Given the description of an element on the screen output the (x, y) to click on. 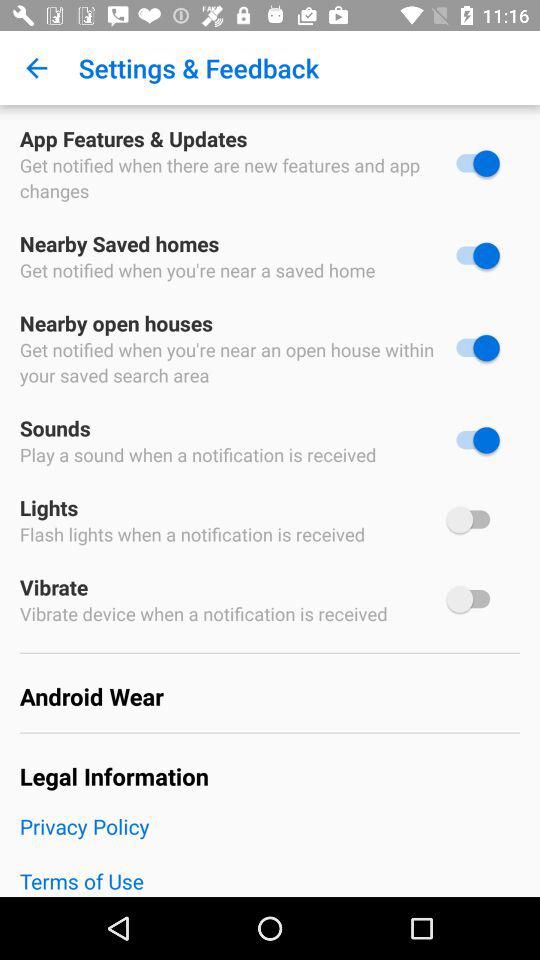
deselect option (473, 255)
